Given the description of an element on the screen output the (x, y) to click on. 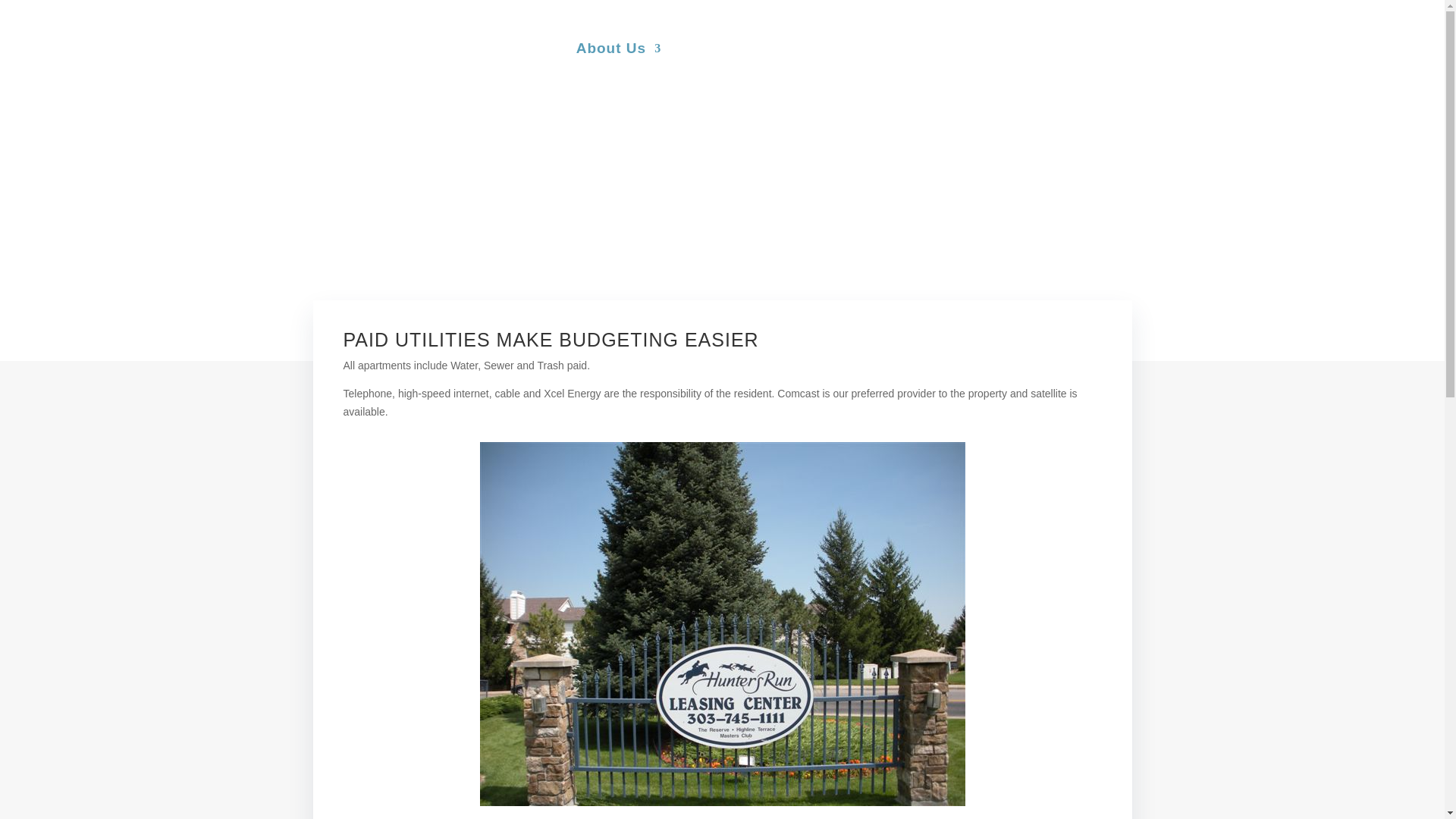
Features (890, 70)
Community (985, 70)
About Us (618, 70)
Contact Us (1089, 70)
